Given the description of an element on the screen output the (x, y) to click on. 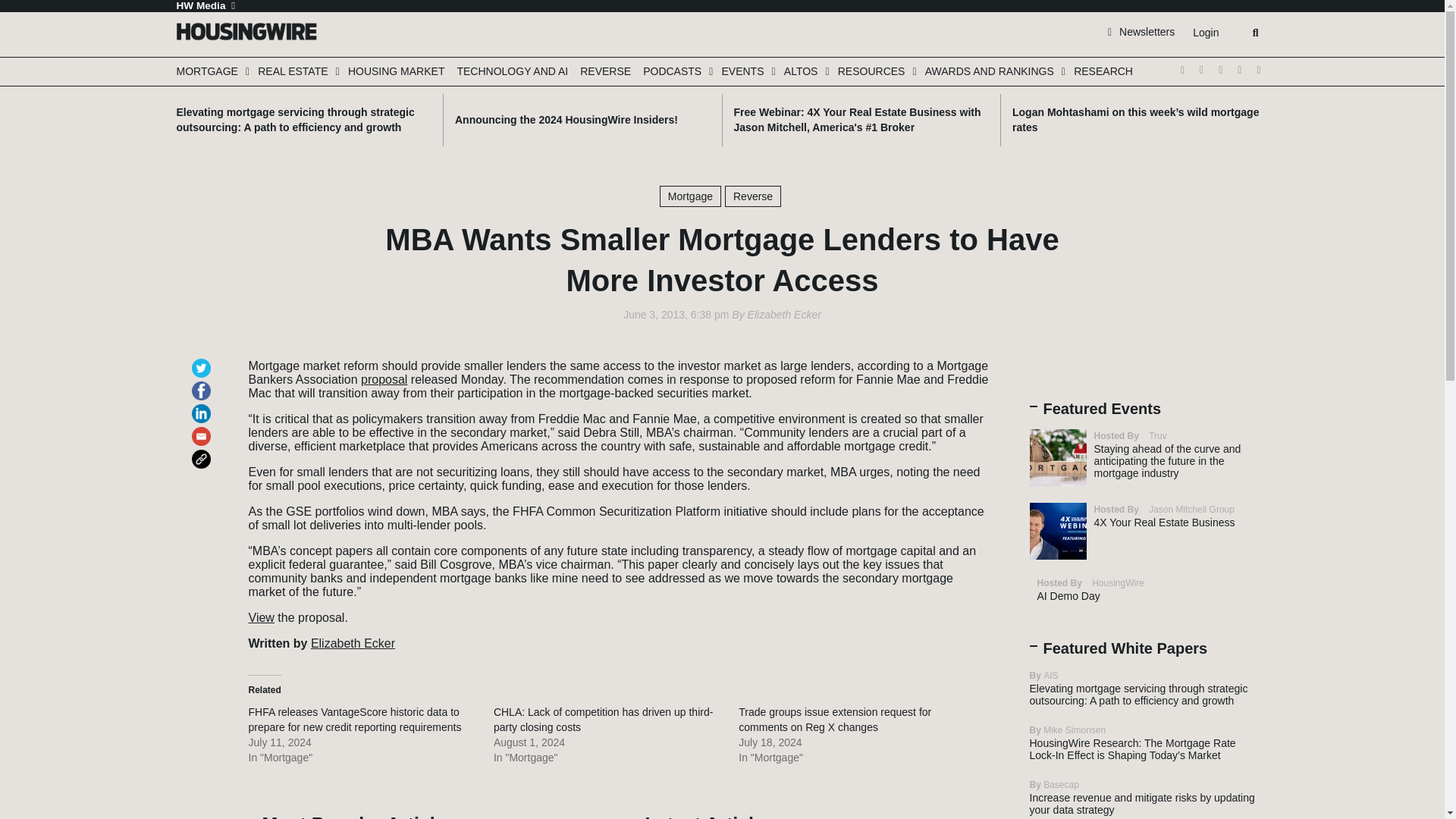
Click to share on LinkedIn (203, 406)
Login (1205, 32)
Click to email a link to a friend (203, 429)
Click to copy link (203, 452)
Click to share on Twitter (203, 360)
Click to share on Facebook (203, 383)
Posts by Elizabeth Ecker (784, 314)
Newsletters (1141, 31)
